Given the description of an element on the screen output the (x, y) to click on. 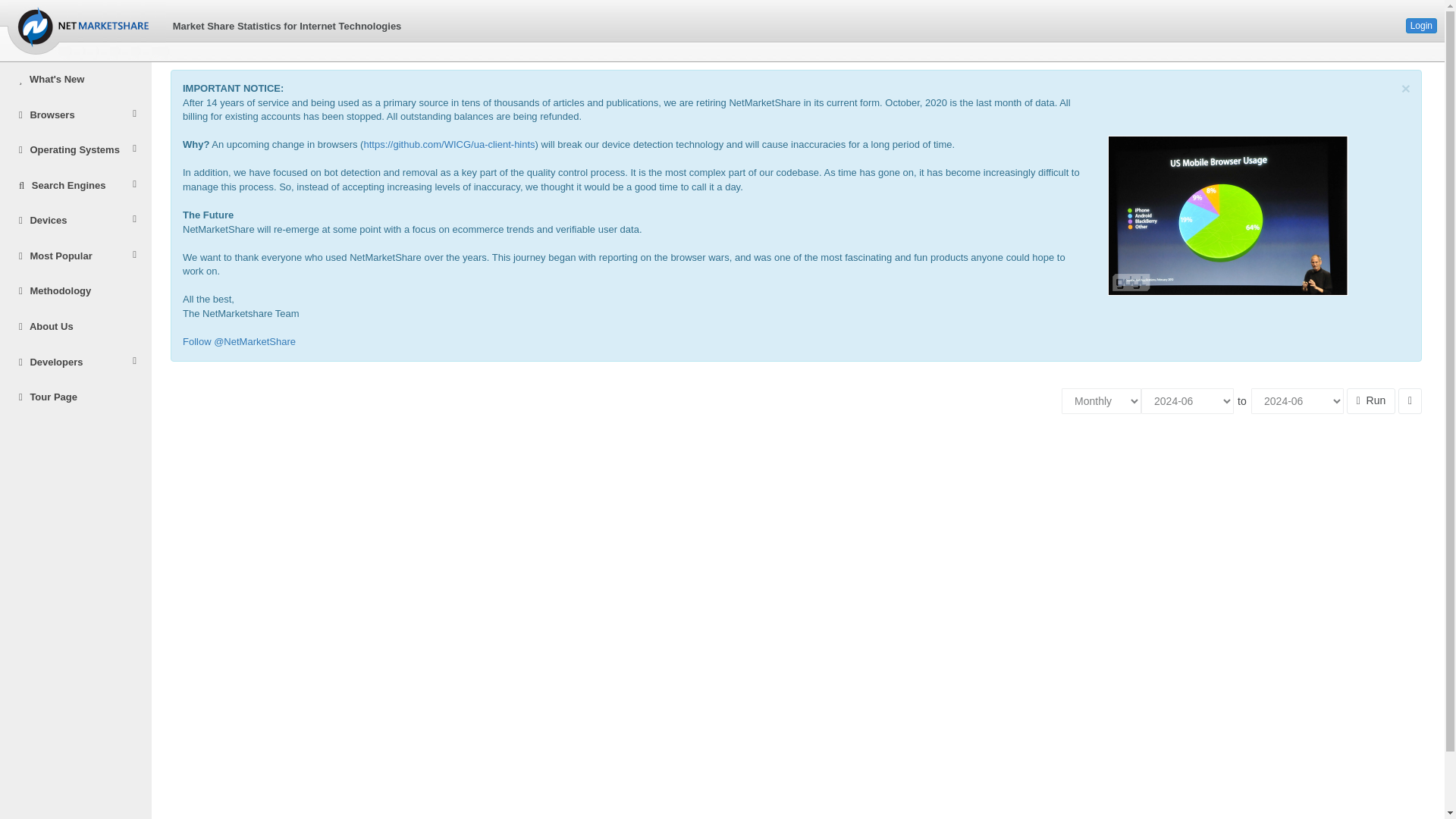
Login (1421, 25)
to (1241, 401)
About Us (75, 326)
Devices (75, 221)
Tour Page (75, 397)
Most Popular (75, 256)
Operating Systems (75, 150)
Refresh data (1370, 399)
Methodology (75, 291)
Browsers (75, 115)
What's New (75, 79)
Search Engines (75, 185)
Developers (75, 361)
